Given the description of an element on the screen output the (x, y) to click on. 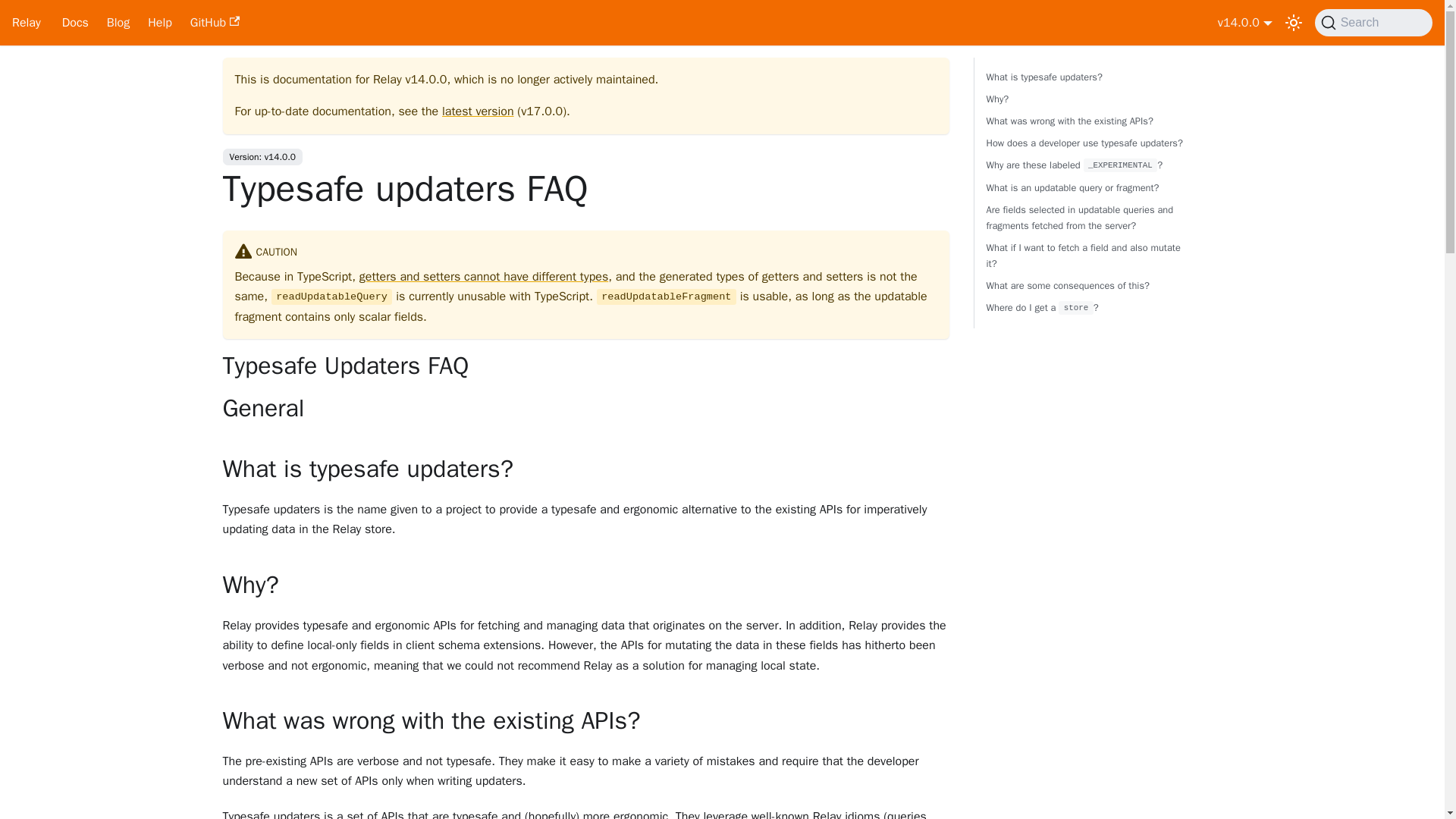
GitHub (214, 22)
Blog (117, 22)
Help (159, 22)
v14.0.0 (1244, 22)
Docs (74, 22)
Relay (25, 22)
